Given the description of an element on the screen output the (x, y) to click on. 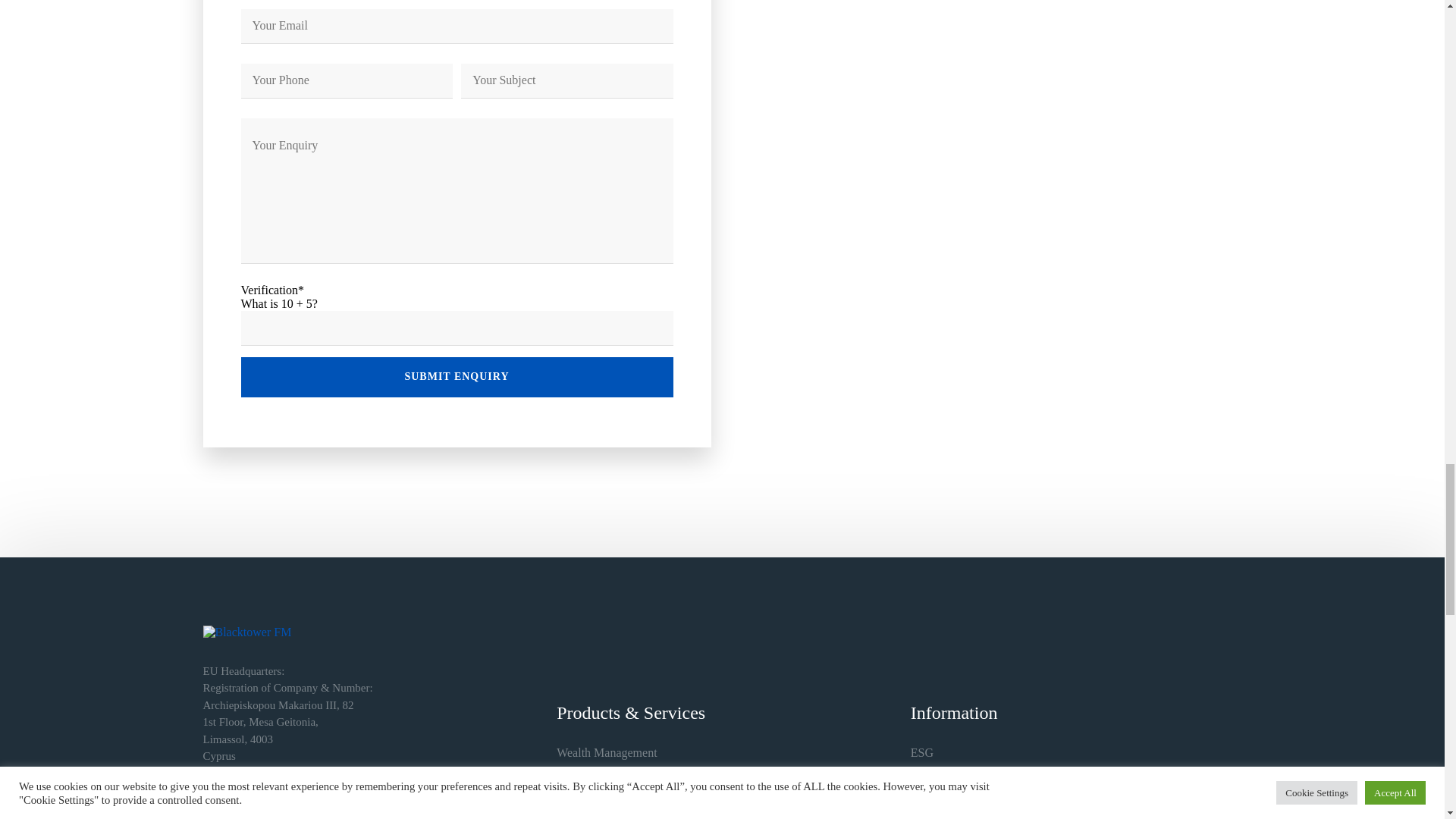
Submit Enquiry (456, 376)
Submit Enquiry (456, 376)
